Given the description of an element on the screen output the (x, y) to click on. 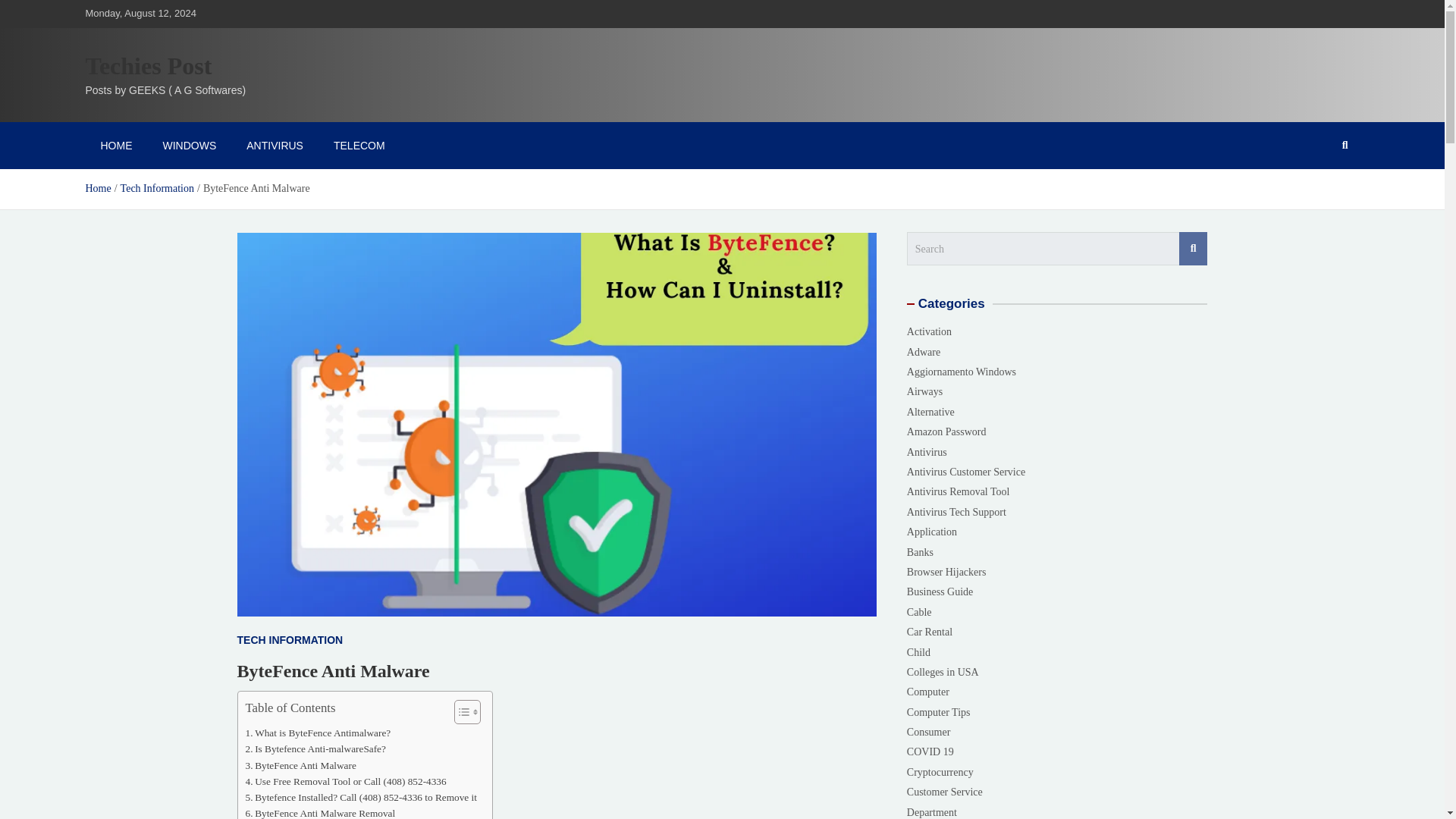
Adware (923, 351)
Activation (929, 332)
Is Bytefence Anti-malwareSafe? (315, 748)
Is Bytefence Anti-malwareSafe? (315, 748)
ByteFence Anti Malware Removal (321, 812)
TELECOM (359, 145)
Home (97, 188)
What is ByteFence Antimalware? (318, 732)
Tech Information (156, 188)
What is ByteFence Antimalware? (318, 732)
